Given the description of an element on the screen output the (x, y) to click on. 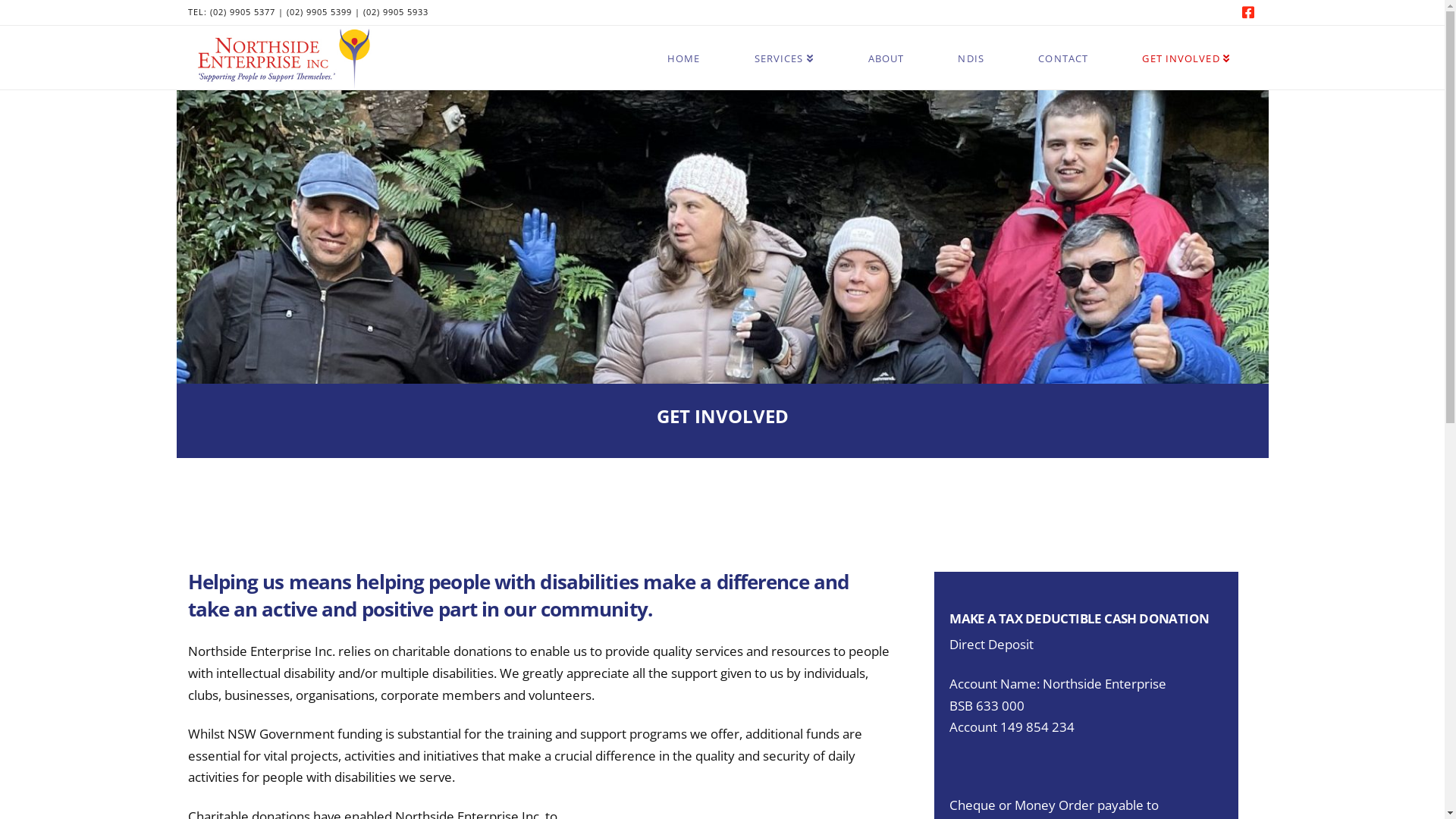
SERVICES Element type: text (783, 40)
NDIS Element type: text (970, 40)
GET INVOLVED Element type: text (1185, 40)
HOME Element type: text (683, 40)
Facebook Element type: hover (1248, 12)
CONTACT Element type: text (1062, 40)
ABOUT Element type: text (885, 40)
